Given the description of an element on the screen output the (x, y) to click on. 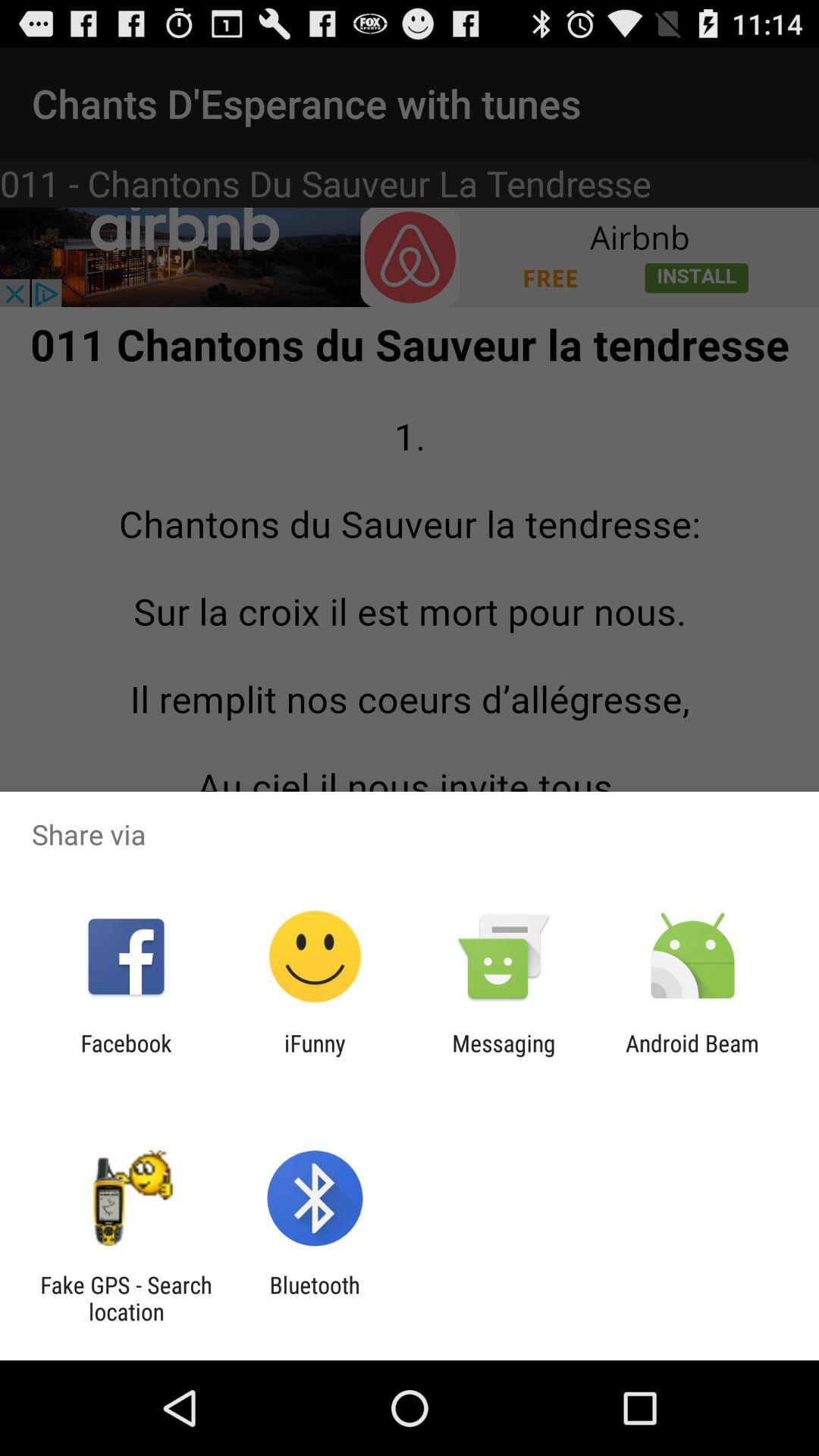
click the icon to the right of fake gps search item (314, 1298)
